Given the description of an element on the screen output the (x, y) to click on. 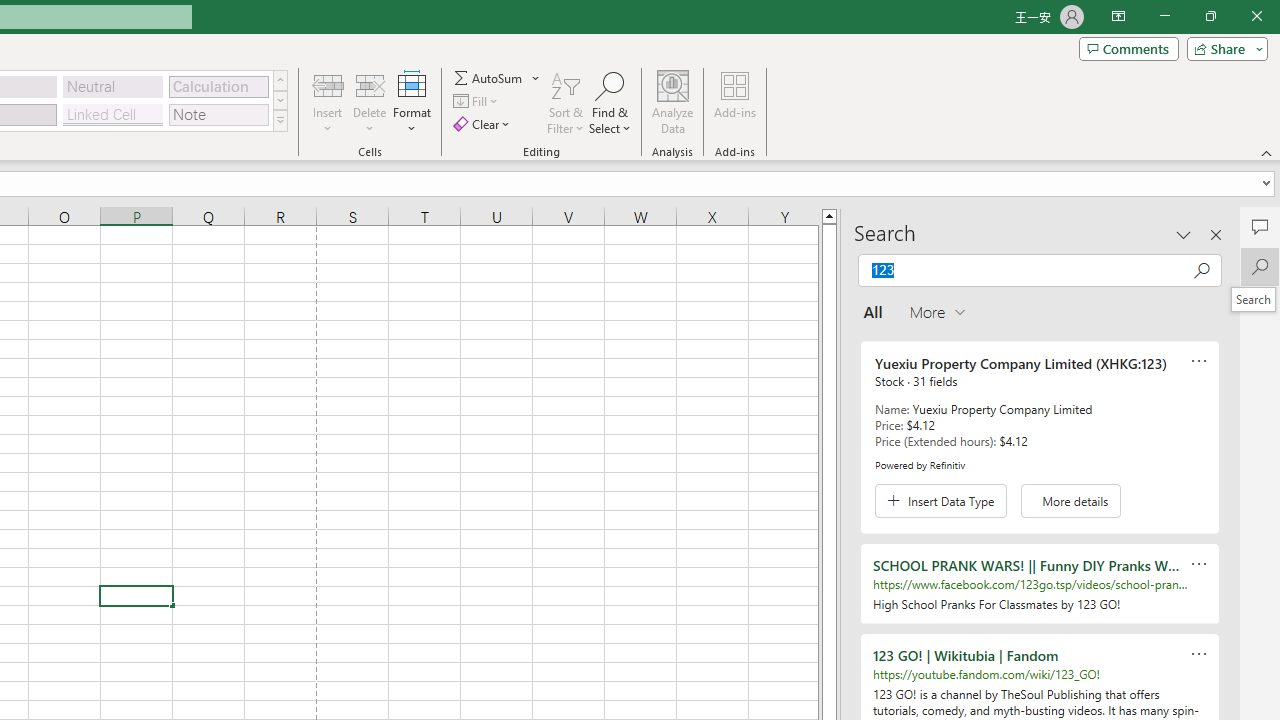
Calculation (218, 86)
Sort & Filter (566, 102)
Neutral (113, 86)
Cell Styles (280, 120)
Insert Cells (328, 84)
